Given the description of an element on the screen output the (x, y) to click on. 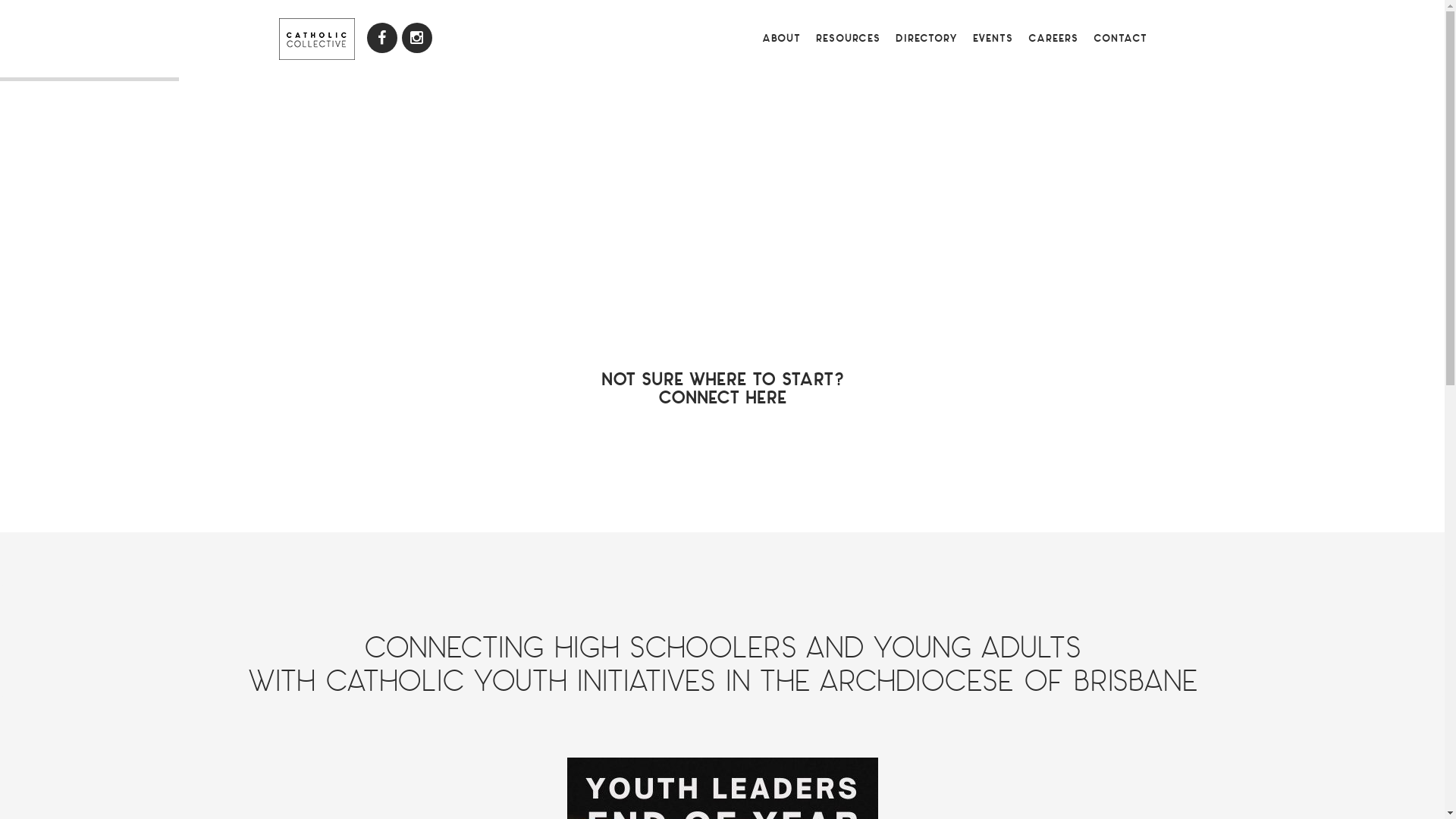
EVENTS Element type: text (991, 37)
CONTACT Element type: text (1119, 37)
RESOURCES Element type: text (848, 37)
ABOUT Element type: text (780, 37)
DIRECTORY Element type: text (925, 37)
CAREERS Element type: text (1052, 37)
